Given the description of an element on the screen output the (x, y) to click on. 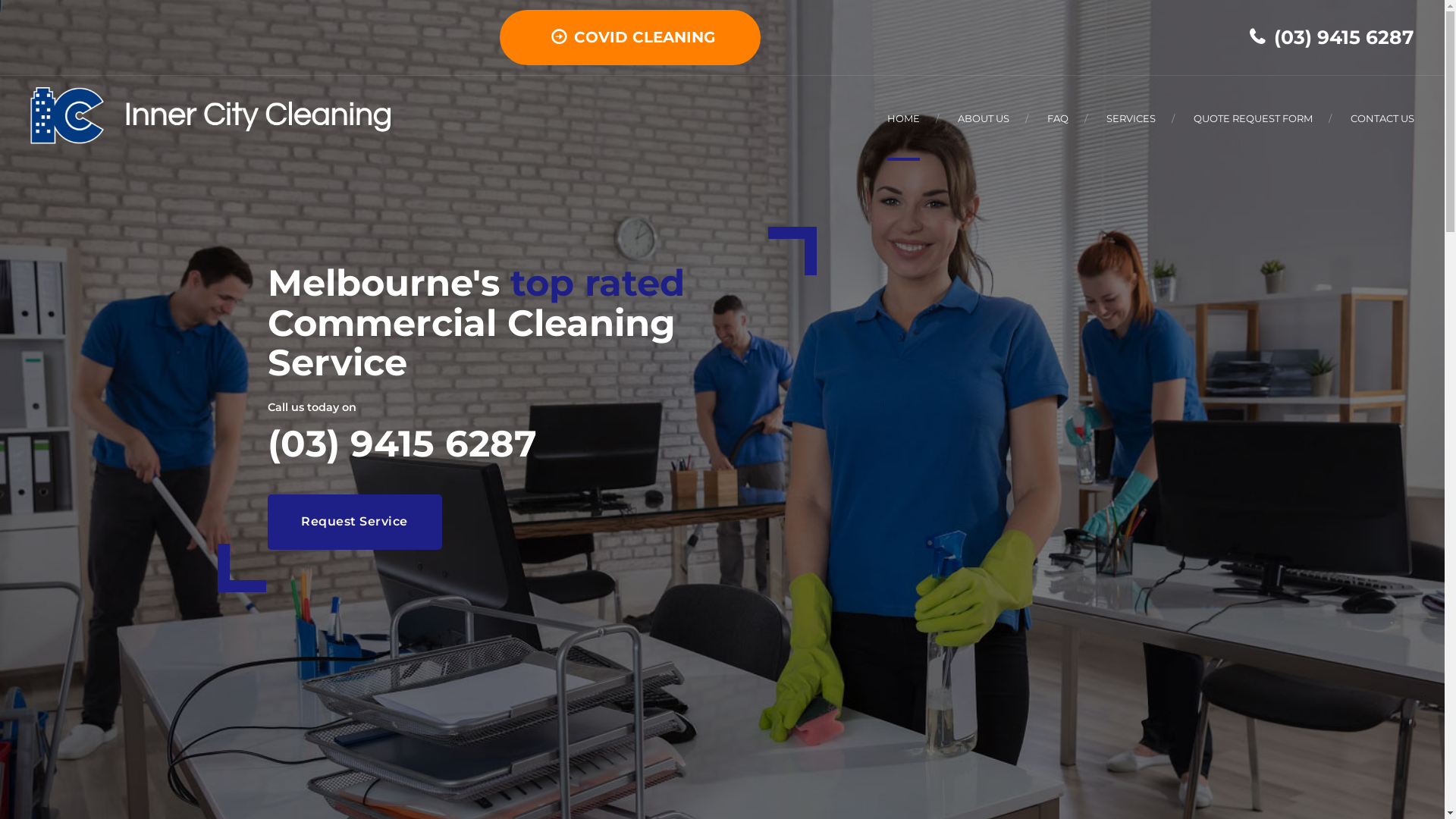
HOME Element type: text (903, 117)
ABOUT US Element type: text (983, 117)
Request Service Element type: text (353, 522)
FAQ Element type: text (1057, 117)
(03) 9415 6287 Element type: text (1332, 37)
CONTACT US Element type: text (1382, 117)
(03) 9415 6287 Element type: text (401, 443)
SERVICES Element type: text (1130, 117)
COVID CLEANING Element type: text (629, 37)
QUOTE REQUEST FORM Element type: text (1252, 117)
